Given the description of an element on the screen output the (x, y) to click on. 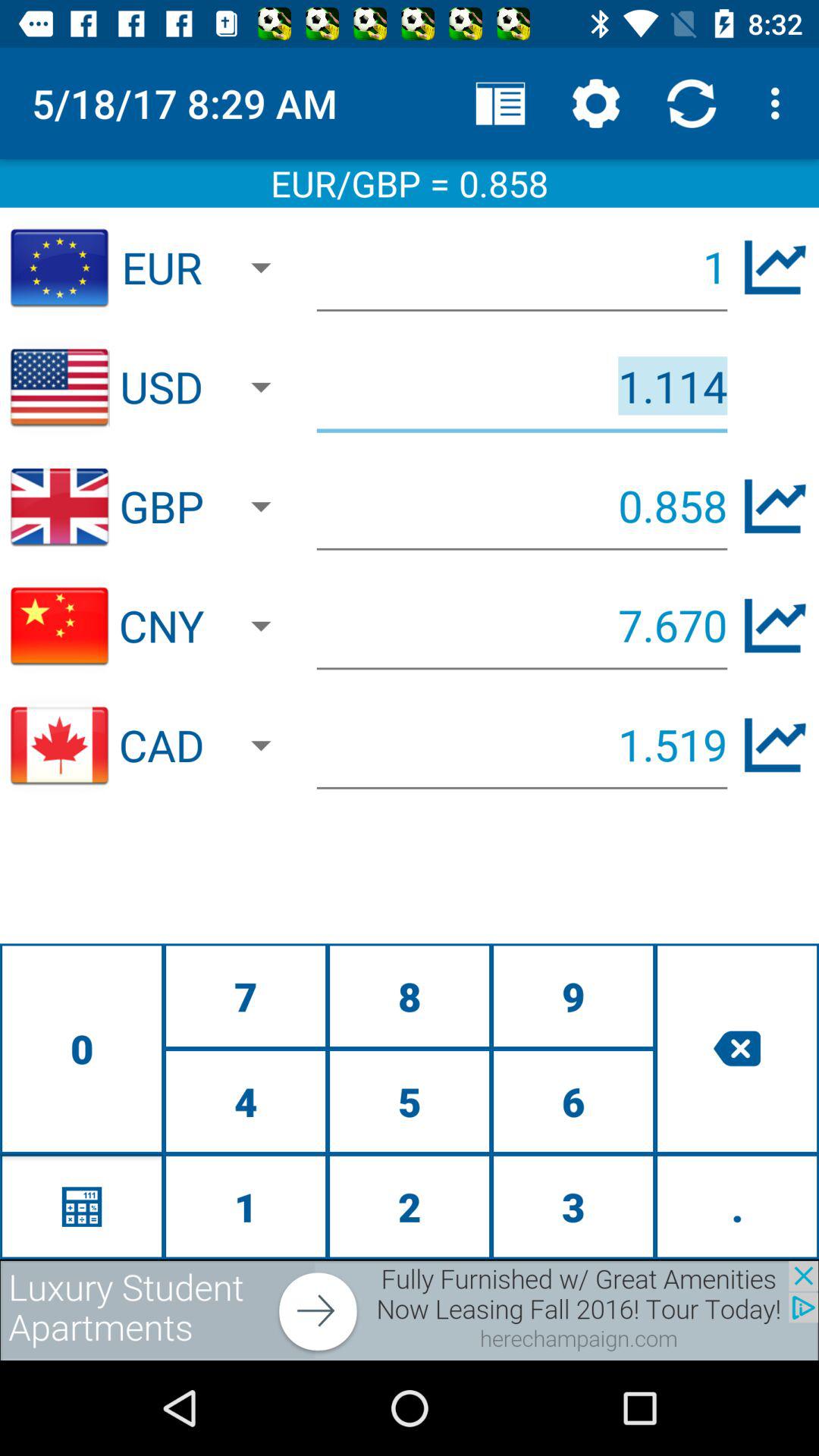
price up (775, 506)
